Given the description of an element on the screen output the (x, y) to click on. 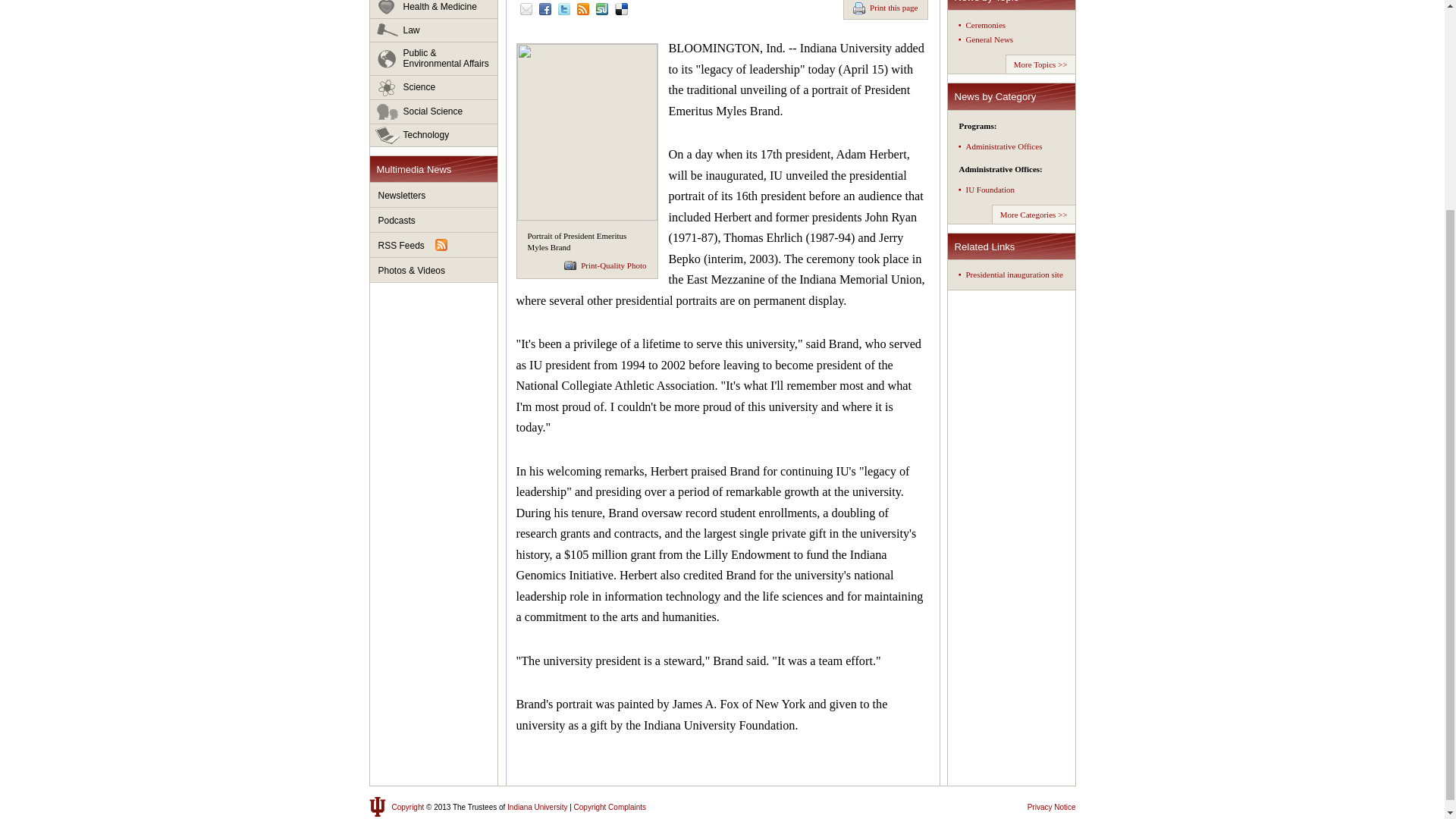
RSS Feeds (433, 244)
Podcasts (433, 220)
Newsletters (433, 195)
Law (433, 30)
Science (433, 87)
Technology (433, 135)
Social Science (433, 111)
